Given the description of an element on the screen output the (x, y) to click on. 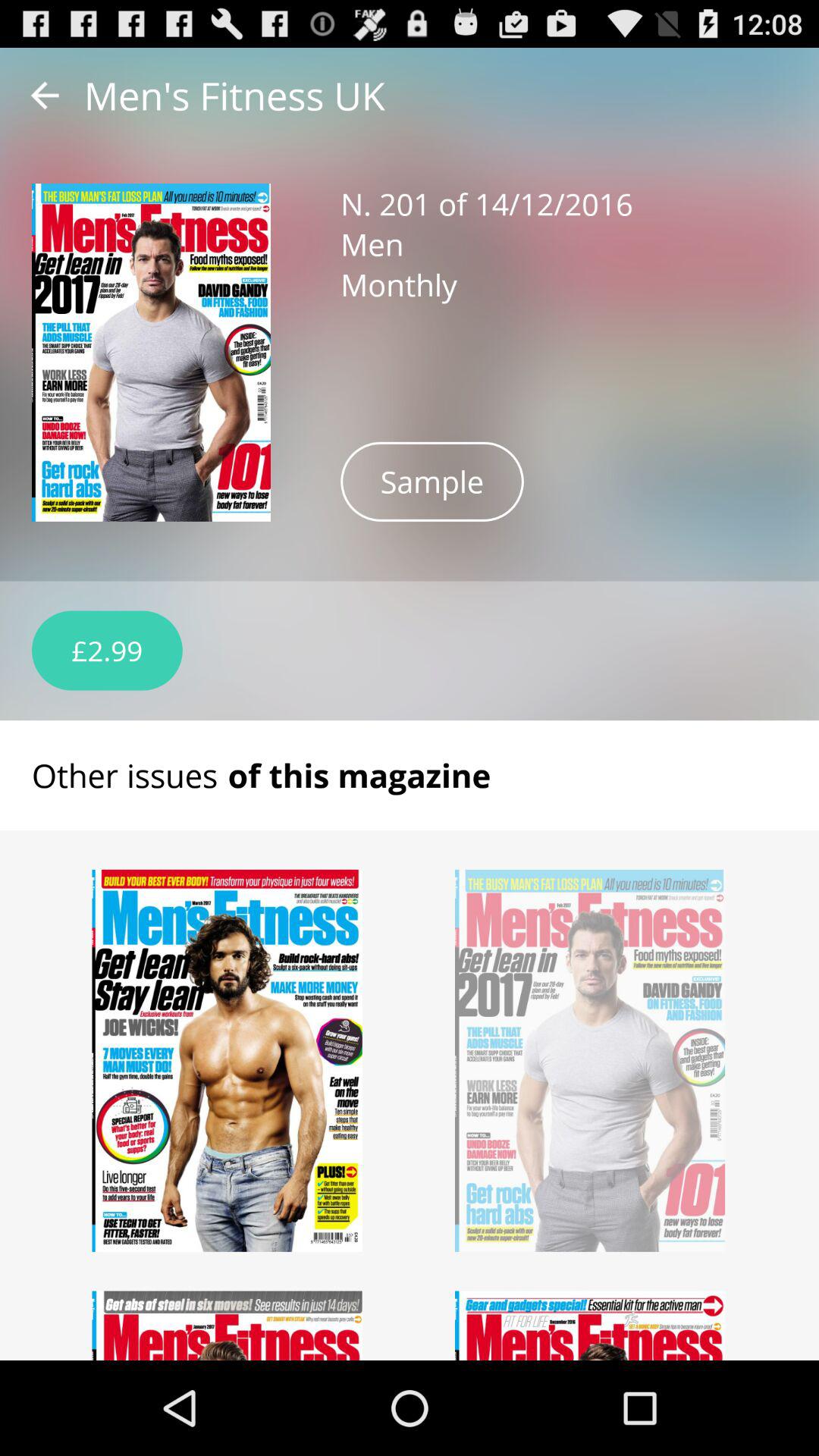
select magazine (590, 1325)
